Given the description of an element on the screen output the (x, y) to click on. 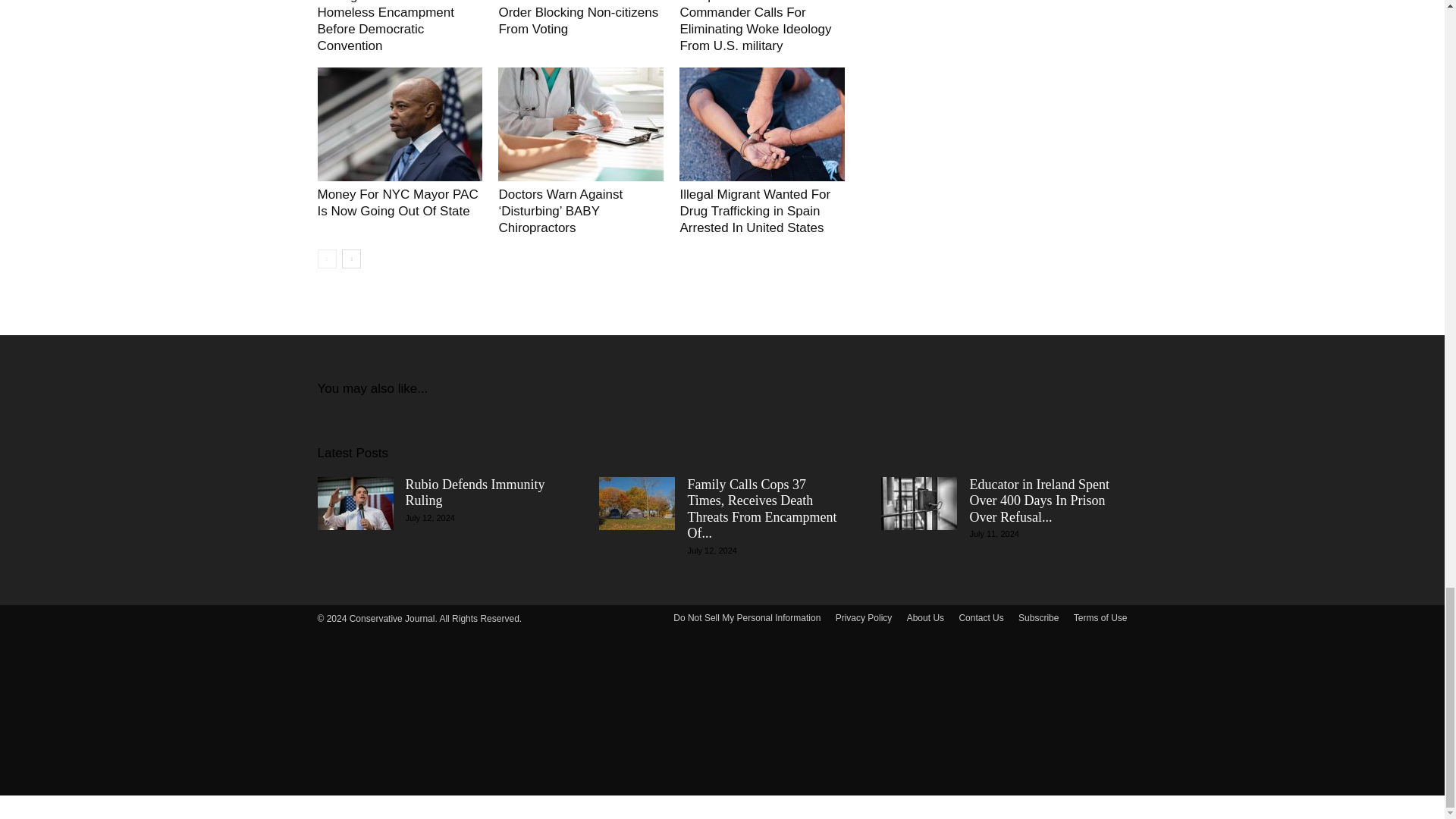
Money For NYC Mayor PAC Is Now Going Out Of State (397, 202)
